Given the description of an element on the screen output the (x, y) to click on. 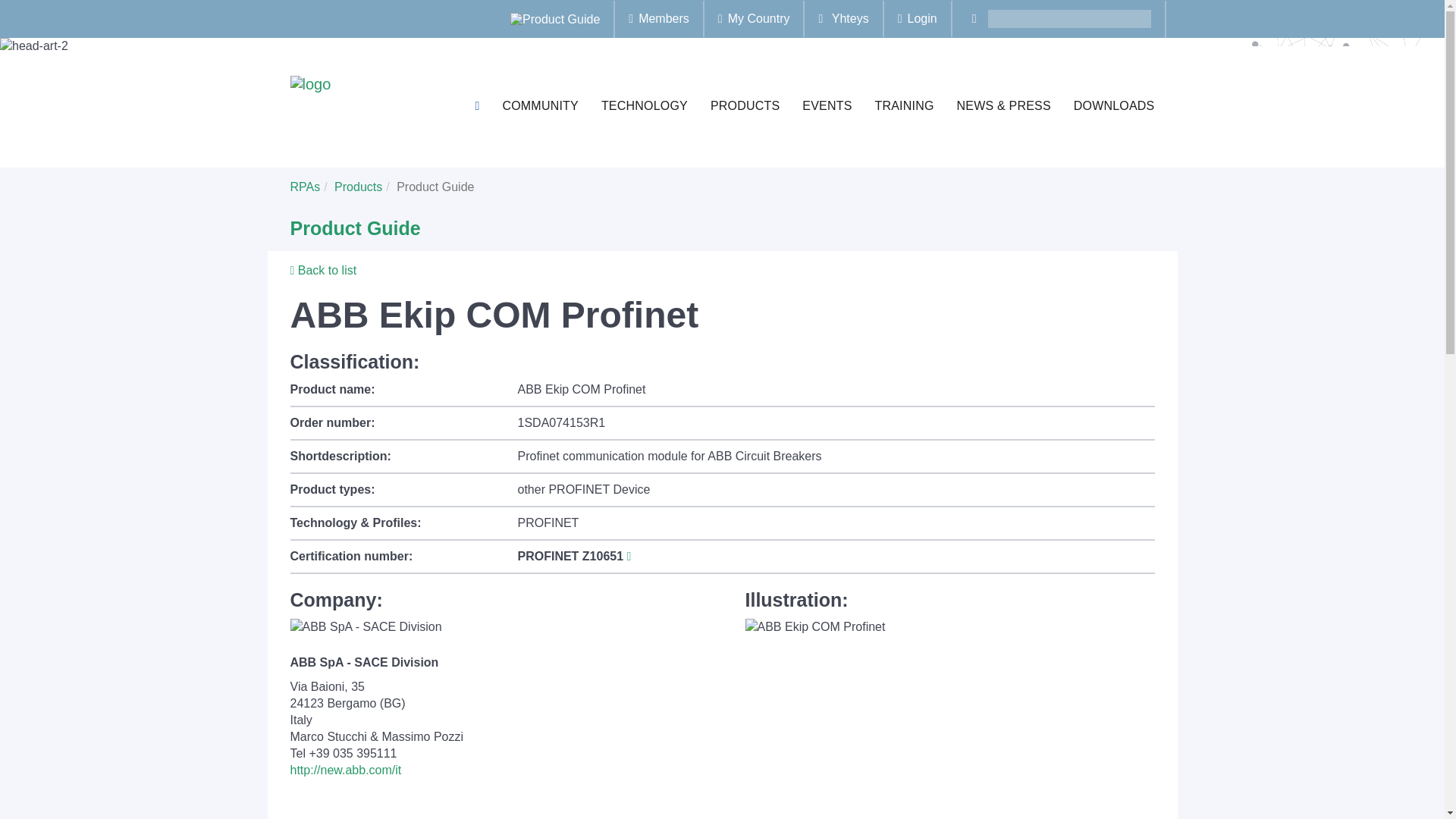
My Country (753, 18)
Login (917, 18)
Login (917, 18)
profibus.com (555, 18)
Yhteys (842, 18)
Yhteys (842, 18)
Members (658, 18)
My Country (753, 18)
Members (658, 18)
